Given the description of an element on the screen output the (x, y) to click on. 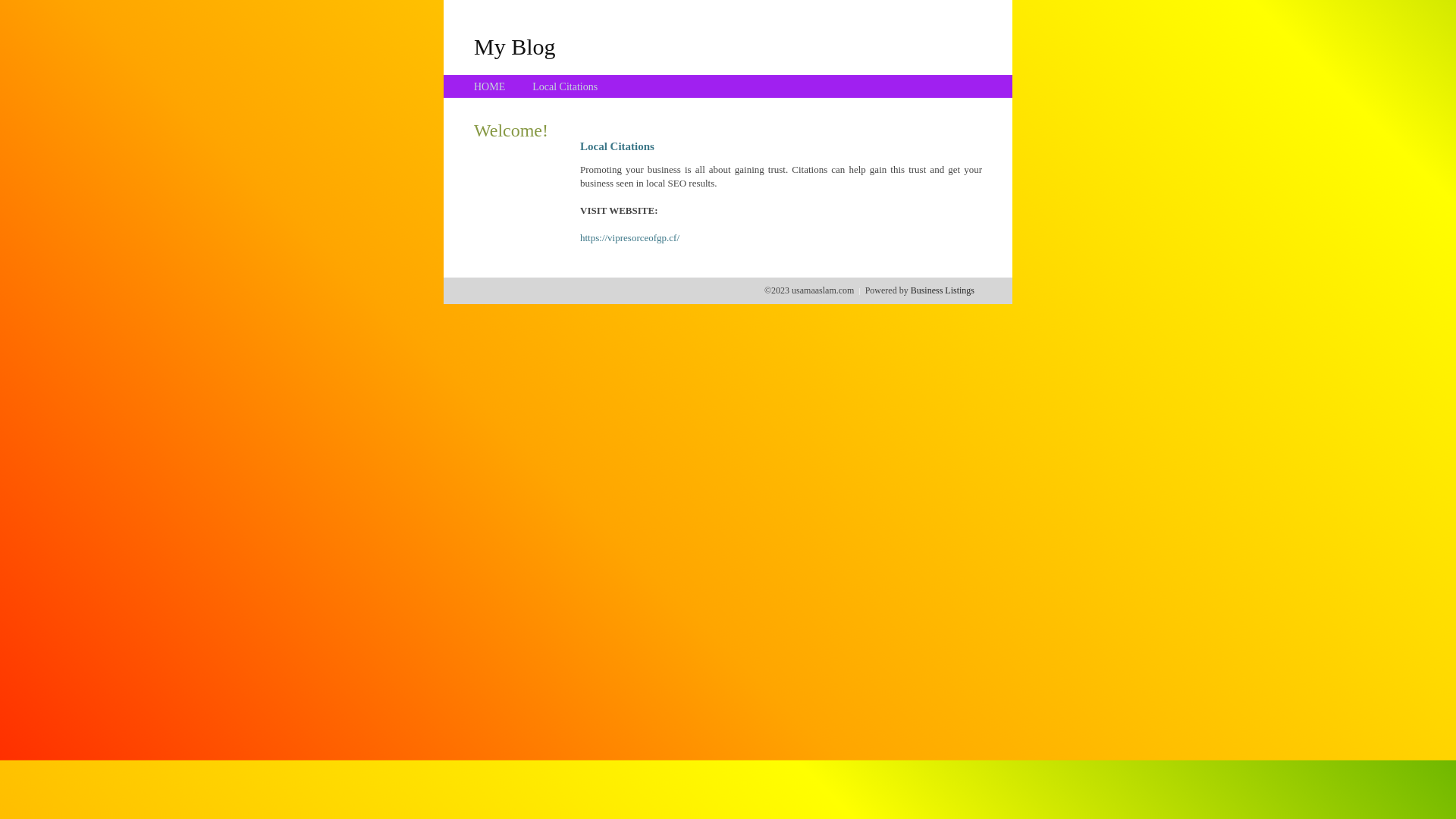
HOME Element type: text (489, 86)
Business Listings Element type: text (942, 290)
https://vipresorceofgp.cf/ Element type: text (629, 237)
Local Citations Element type: text (564, 86)
My Blog Element type: text (514, 46)
